Given the description of an element on the screen output the (x, y) to click on. 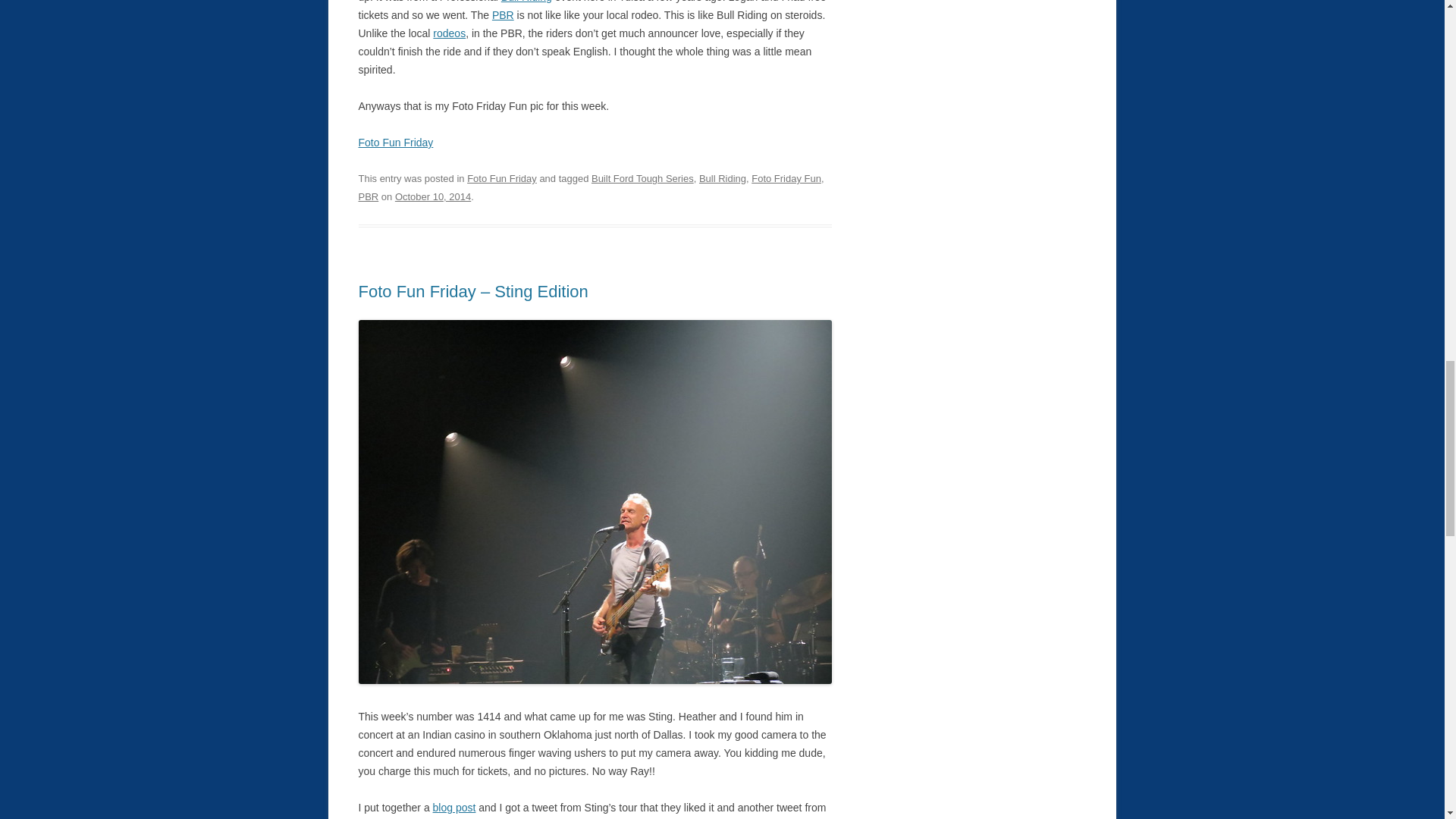
11:15 am (432, 196)
Bull riding (525, 1)
rodeos (448, 33)
Professional Bull Riders (502, 15)
Foto Friday Fun (786, 178)
blog post (454, 807)
Bull Riding (525, 1)
Built Ford Tough Series (642, 178)
PBR (368, 196)
Bull Riding (721, 178)
